Given the description of an element on the screen output the (x, y) to click on. 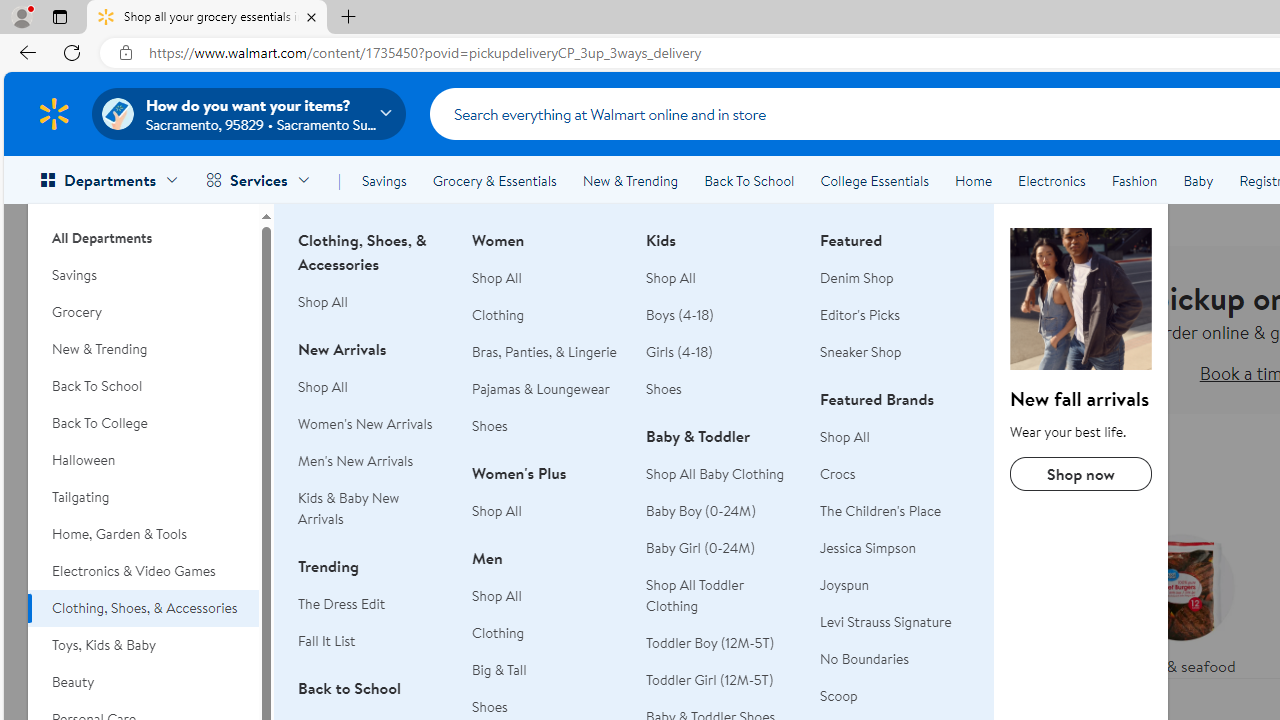
Toddler Boy (12M-5T) (721, 642)
Baby (1197, 180)
Joyspun (845, 584)
Fresh produce (1023, 599)
Baby Girl (0-24M) (701, 547)
Editor's Picks (859, 314)
Clothing (498, 632)
Boys (4-18) (721, 315)
Kids & Baby New Arrivals (373, 508)
Savings (384, 180)
Clothing, Shoes, & Accessories (143, 608)
